Given the description of an element on the screen output the (x, y) to click on. 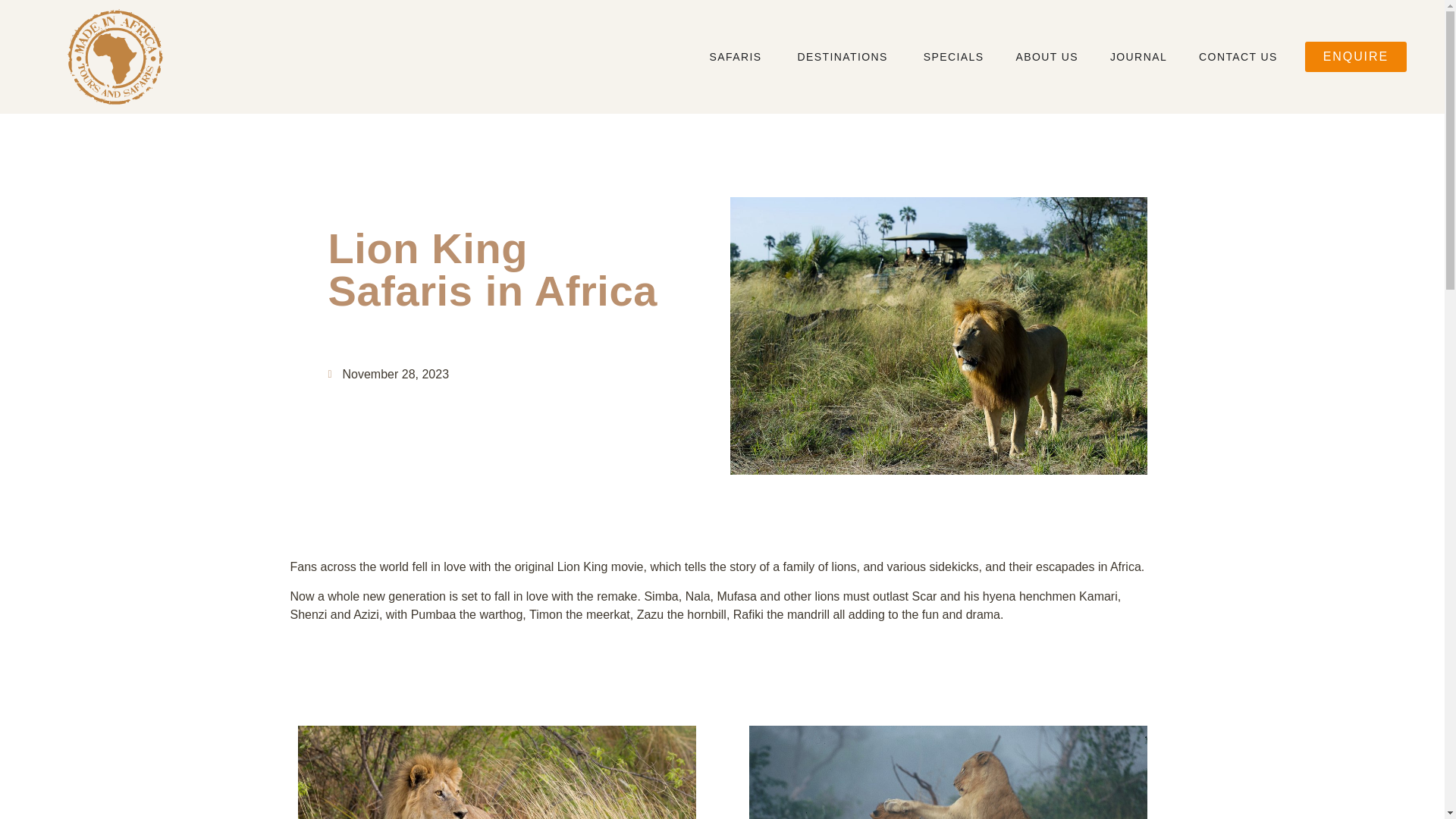
SAFARIS (735, 56)
